Given the description of an element on the screen output the (x, y) to click on. 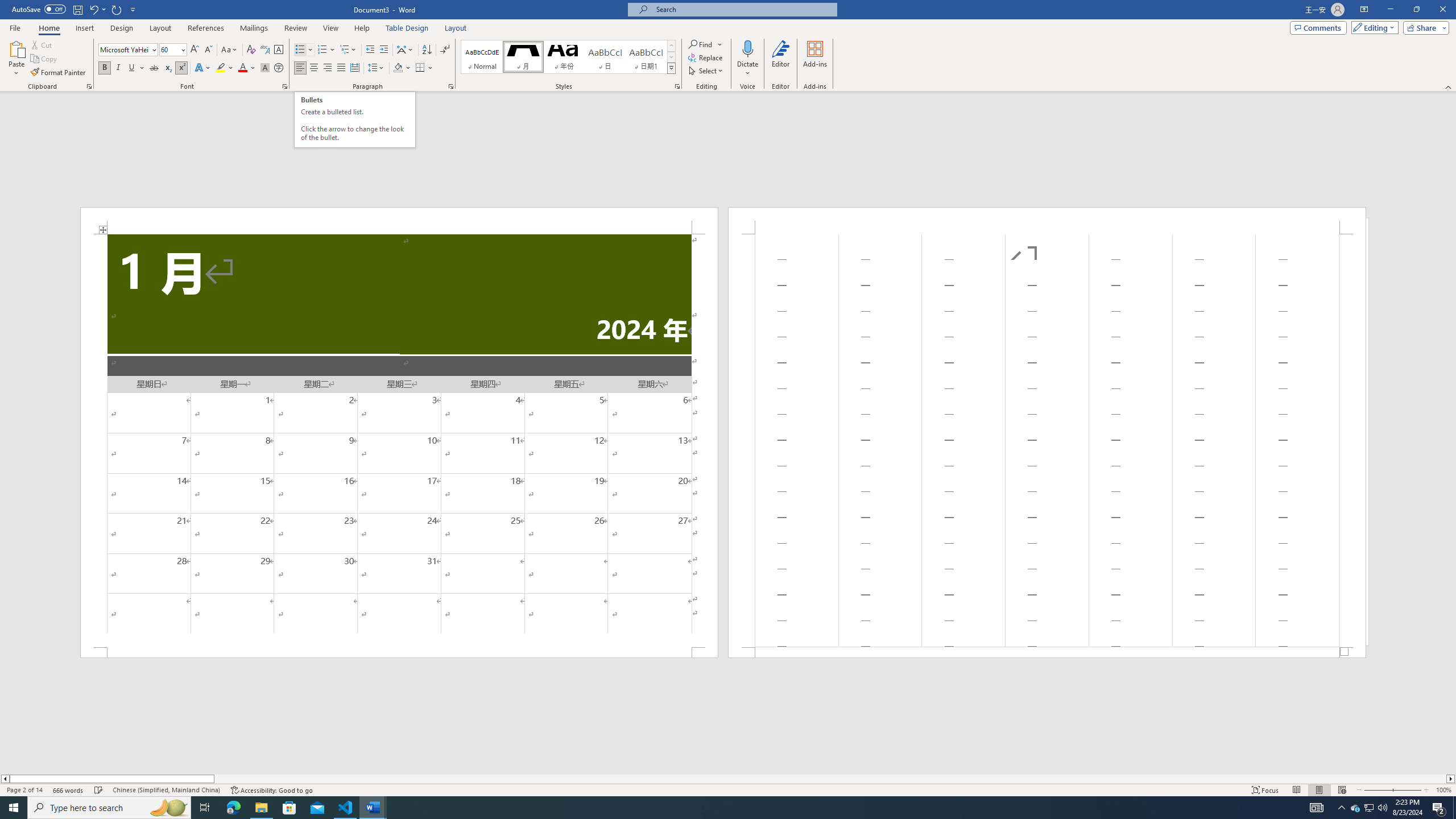
Read Mode (1296, 790)
Editor (780, 58)
Accessibility Checker Accessibility: Good to go (271, 790)
Paste (16, 48)
Dictate (747, 58)
Dictate (747, 48)
Find (705, 44)
Repeat Doc Close (117, 9)
Paragraph... (450, 85)
Page Number Page 2 of 14 (24, 790)
Word Count 666 words (68, 790)
Multilevel List (347, 49)
